Given the description of an element on the screen output the (x, y) to click on. 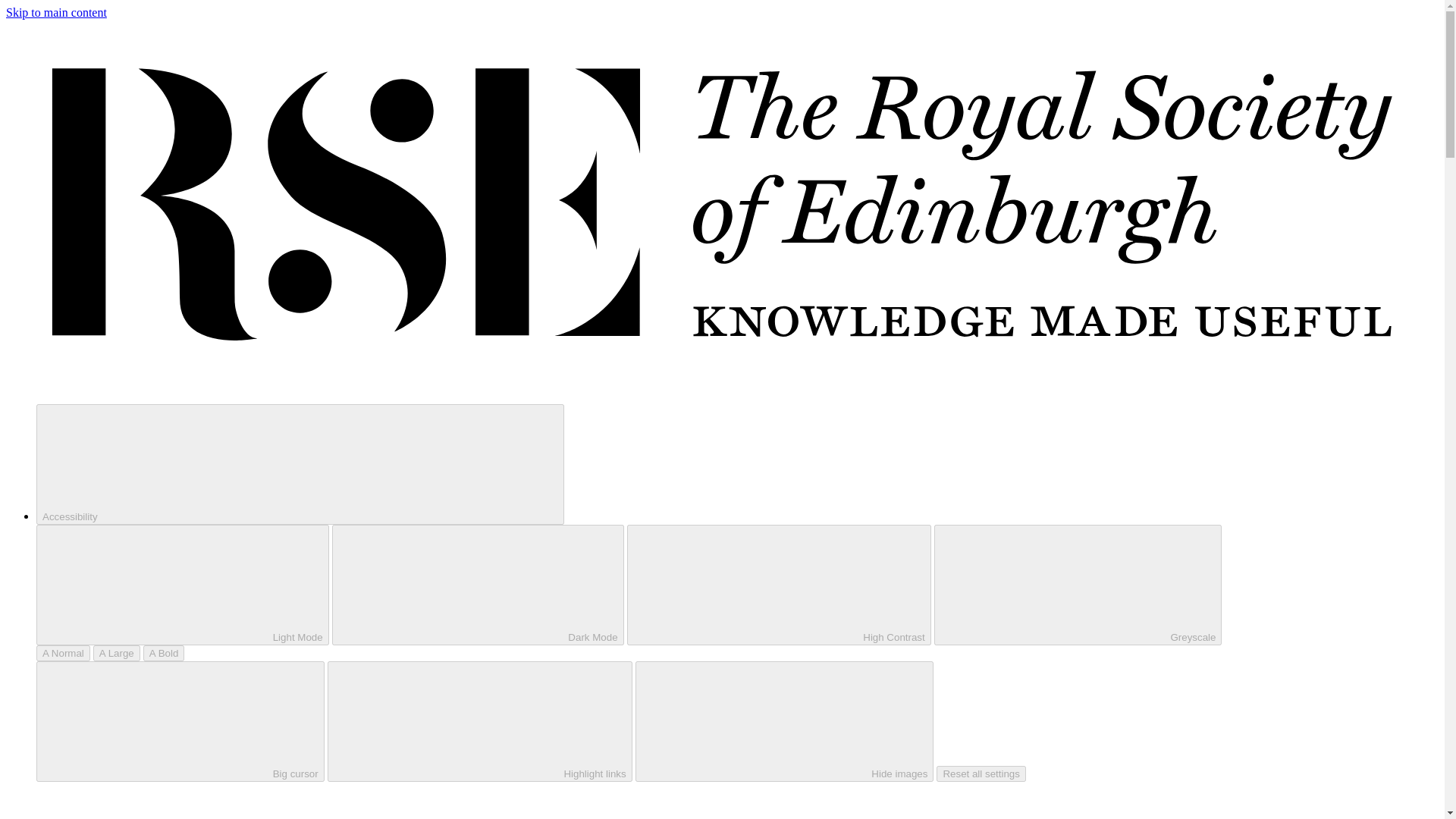
Big cursor (180, 721)
Greyscale (1078, 584)
A Normal (63, 652)
Accessibility (300, 464)
Skip to main content (55, 11)
A Bold (163, 652)
Highlight links (479, 721)
A Large (116, 652)
Dark Mode (477, 584)
Reset all settings (981, 773)
Hide images (784, 721)
Light Mode (182, 584)
High Contrast (779, 584)
